Given the description of an element on the screen output the (x, y) to click on. 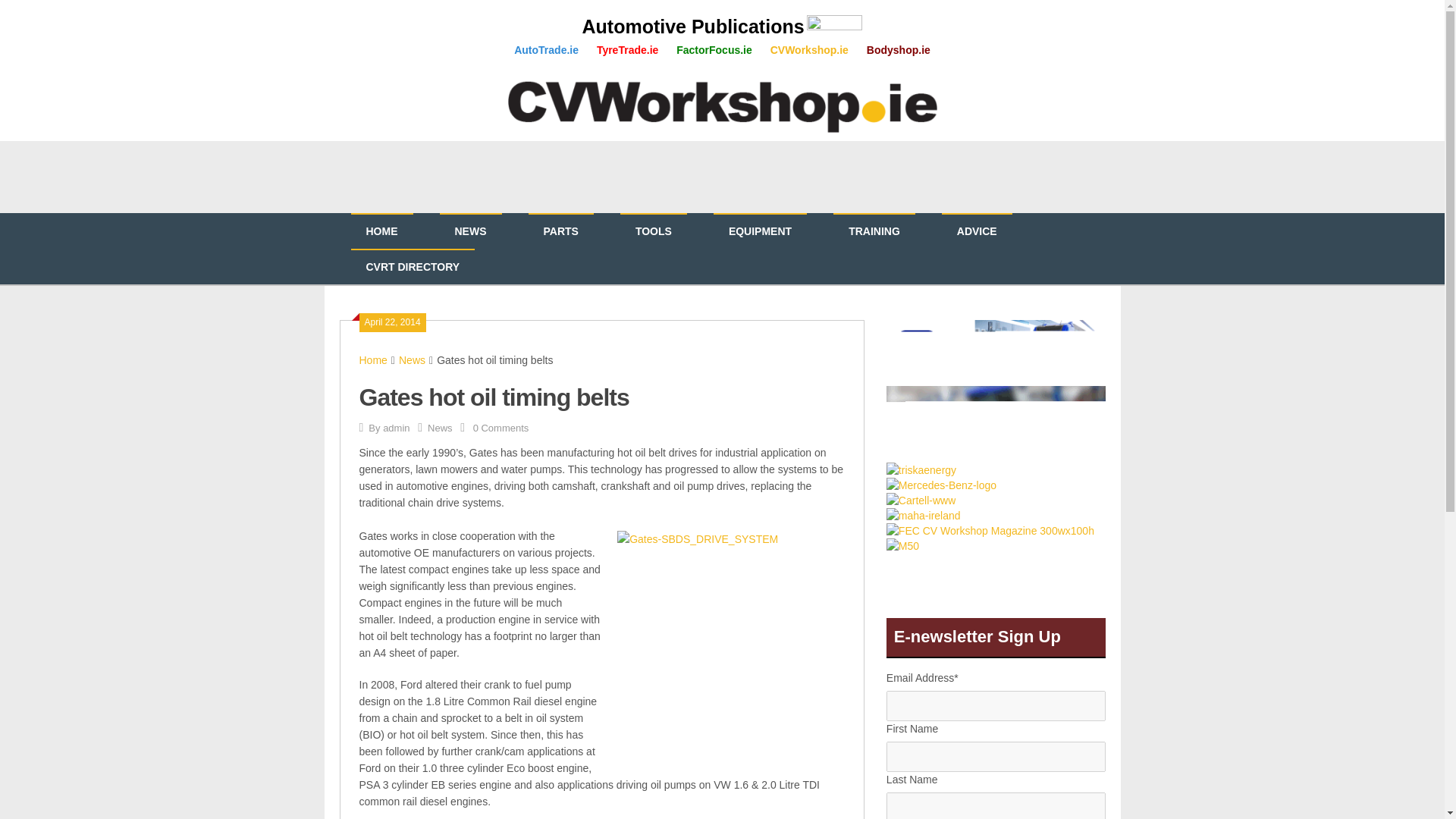
FEC CV Workshop Magazine 300wx100h (990, 530)
EQUIPMENT (759, 231)
NEWS (470, 231)
techntools (995, 421)
Cartell-www (920, 500)
maha-ireland (923, 515)
maha-ireland (923, 515)
M50 (902, 545)
HOME (381, 231)
CVRT DIRECTORY (412, 267)
